Given the description of an element on the screen output the (x, y) to click on. 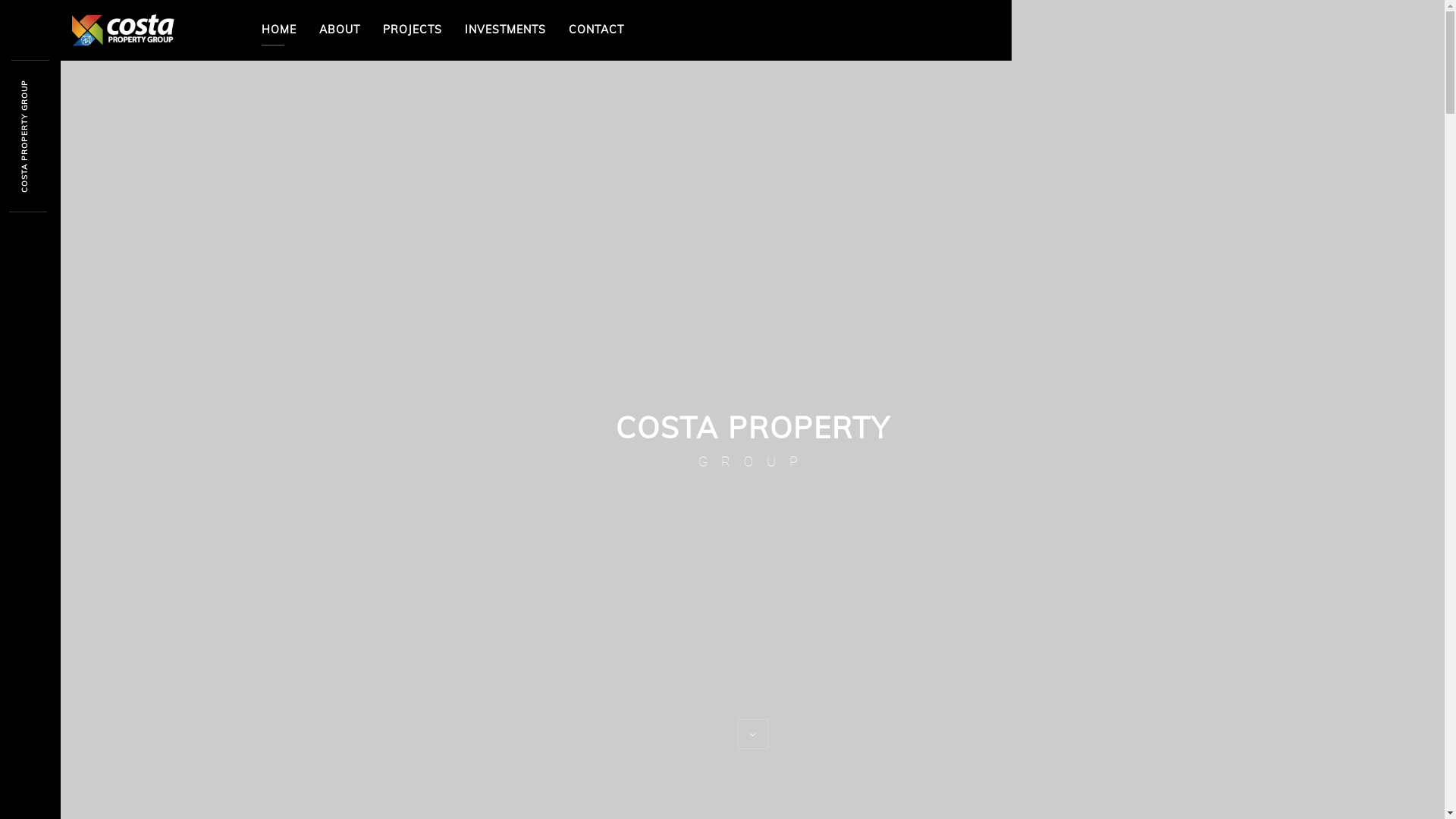
HOME Element type: text (278, 29)
INVESTMENTS Element type: text (505, 29)
ABOUT Element type: text (339, 29)
PROJECTS Element type: text (412, 29)
CONTACT Element type: text (596, 29)
